Given the description of an element on the screen output the (x, y) to click on. 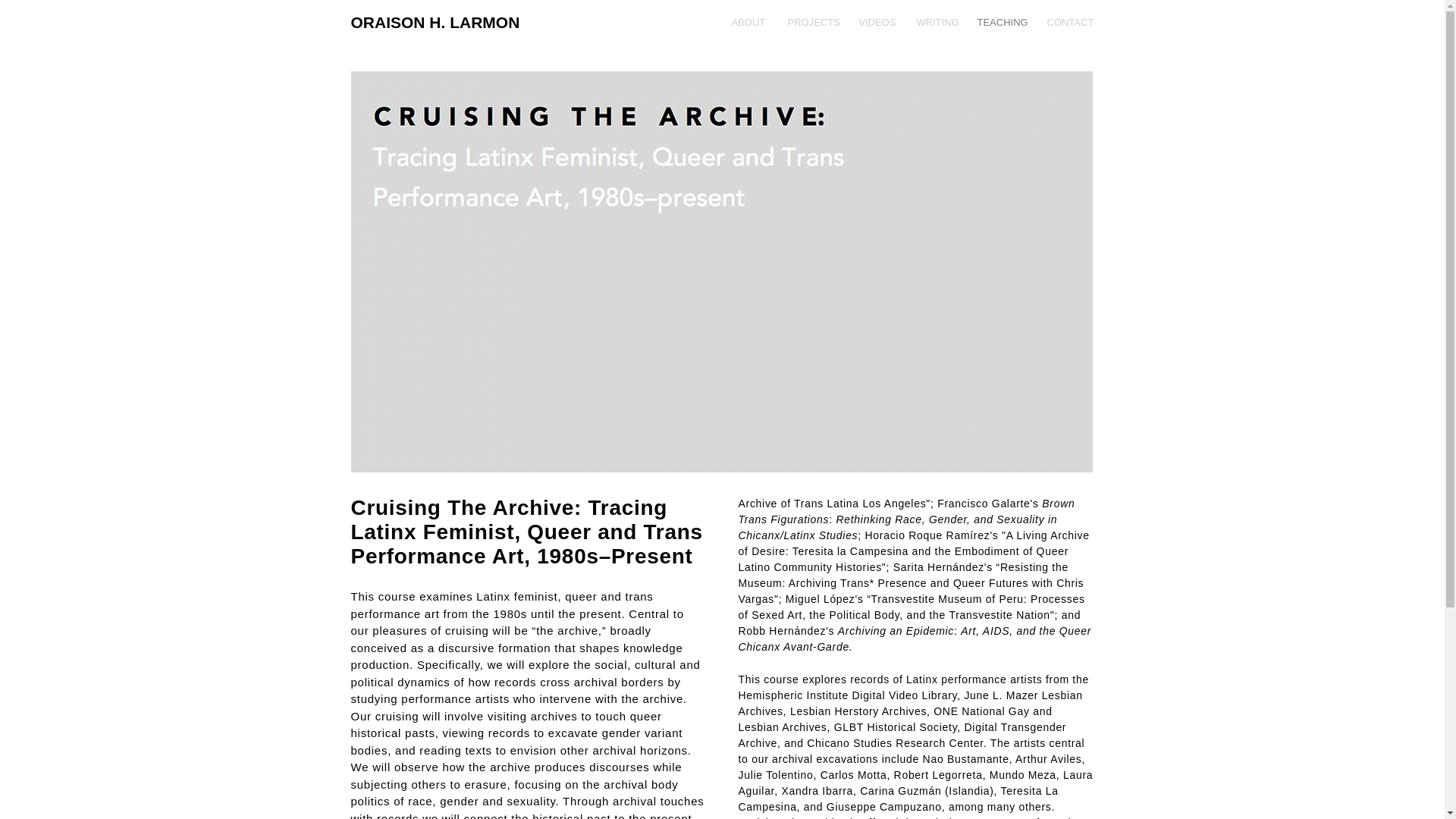
ABOUT (748, 22)
WRITING (935, 22)
TEACHING (1000, 22)
VIDEOS (876, 22)
PROJECTS (811, 22)
CONTACT (1069, 22)
